Given the description of an element on the screen output the (x, y) to click on. 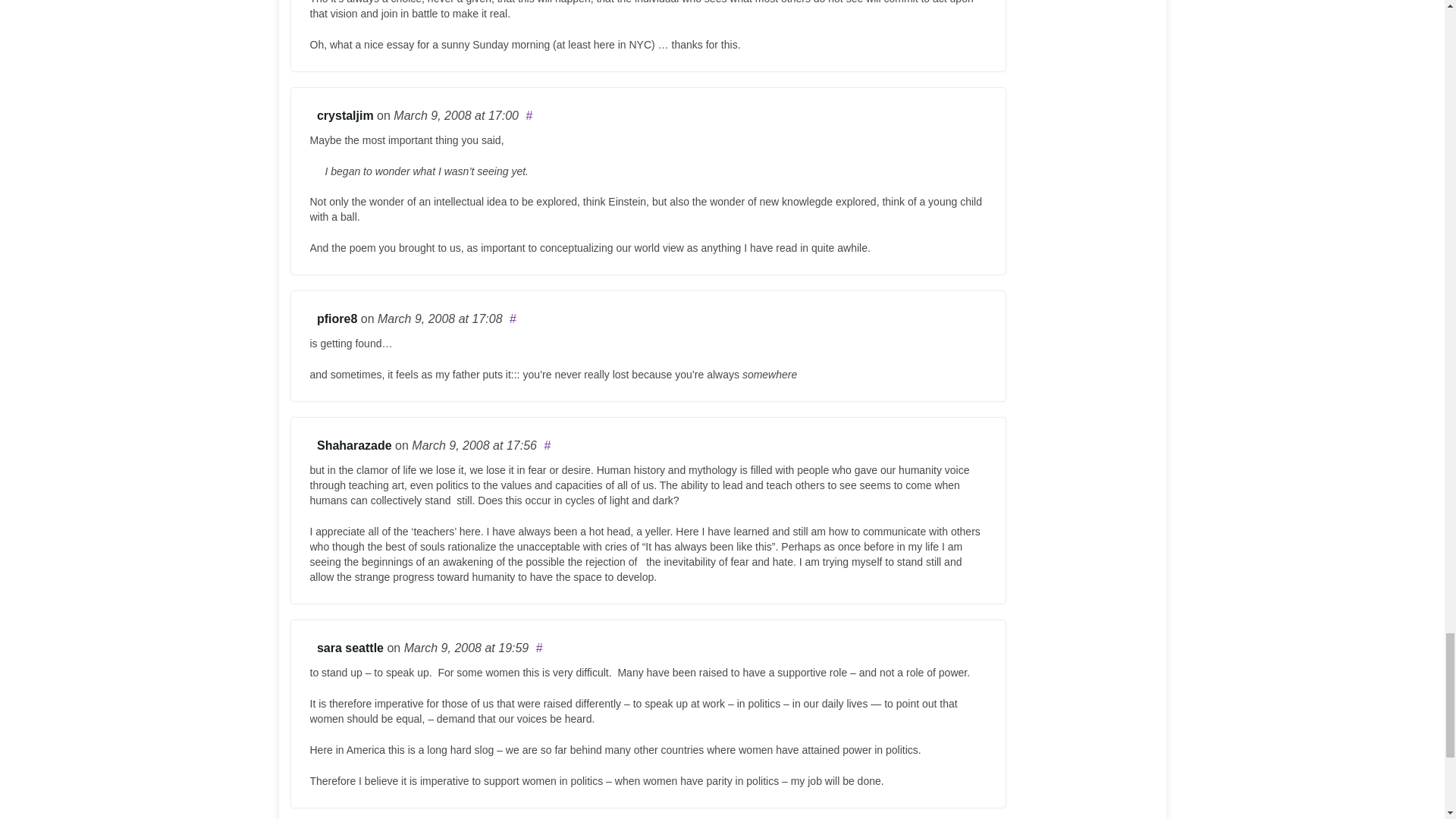
pfiore8 (336, 318)
Shaharazade (354, 445)
crystaljim (345, 115)
sara seattle (350, 647)
